Given the description of an element on the screen output the (x, y) to click on. 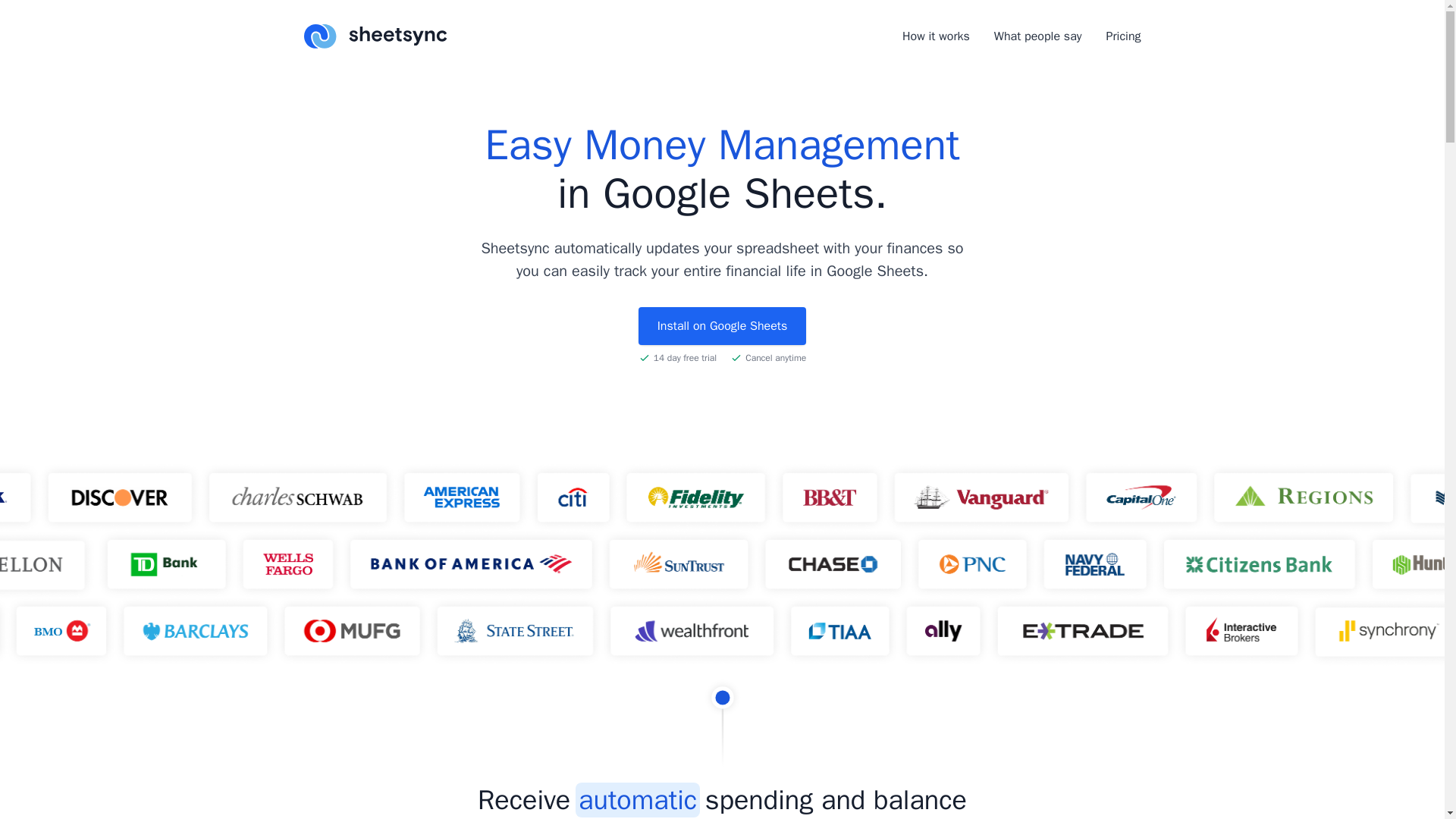
Install on Google Sheets (722, 325)
What people say (1037, 36)
Pricing (1122, 36)
How it works (935, 36)
